Given the description of an element on the screen output the (x, y) to click on. 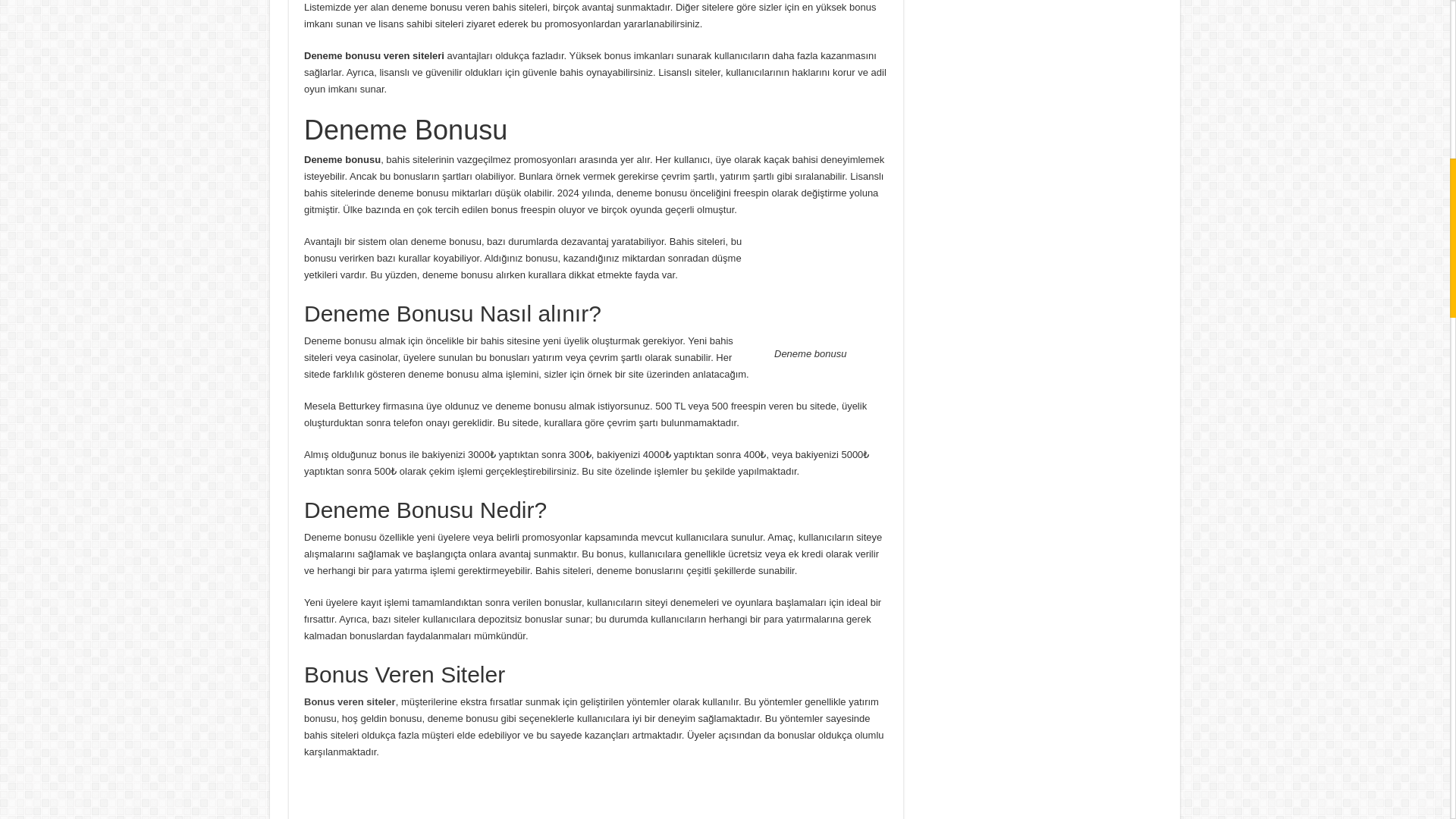
Bonus veren siteler (350, 701)
